Given the description of an element on the screen output the (x, y) to click on. 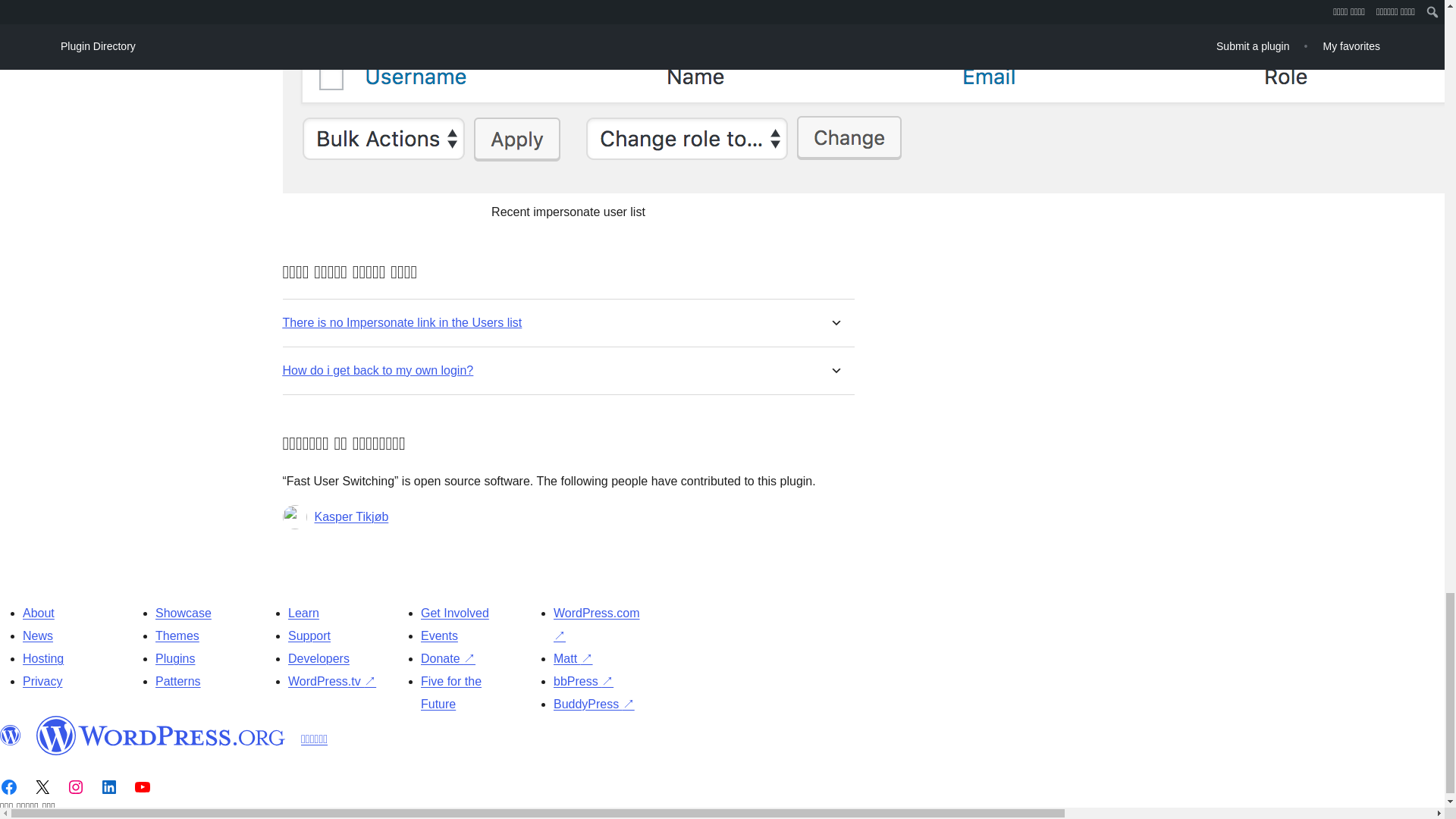
There is no Impersonate link in the Users list (401, 322)
WordPress.org (10, 735)
WordPress.org (160, 735)
How do i get back to my own login? (377, 370)
